Given the description of an element on the screen output the (x, y) to click on. 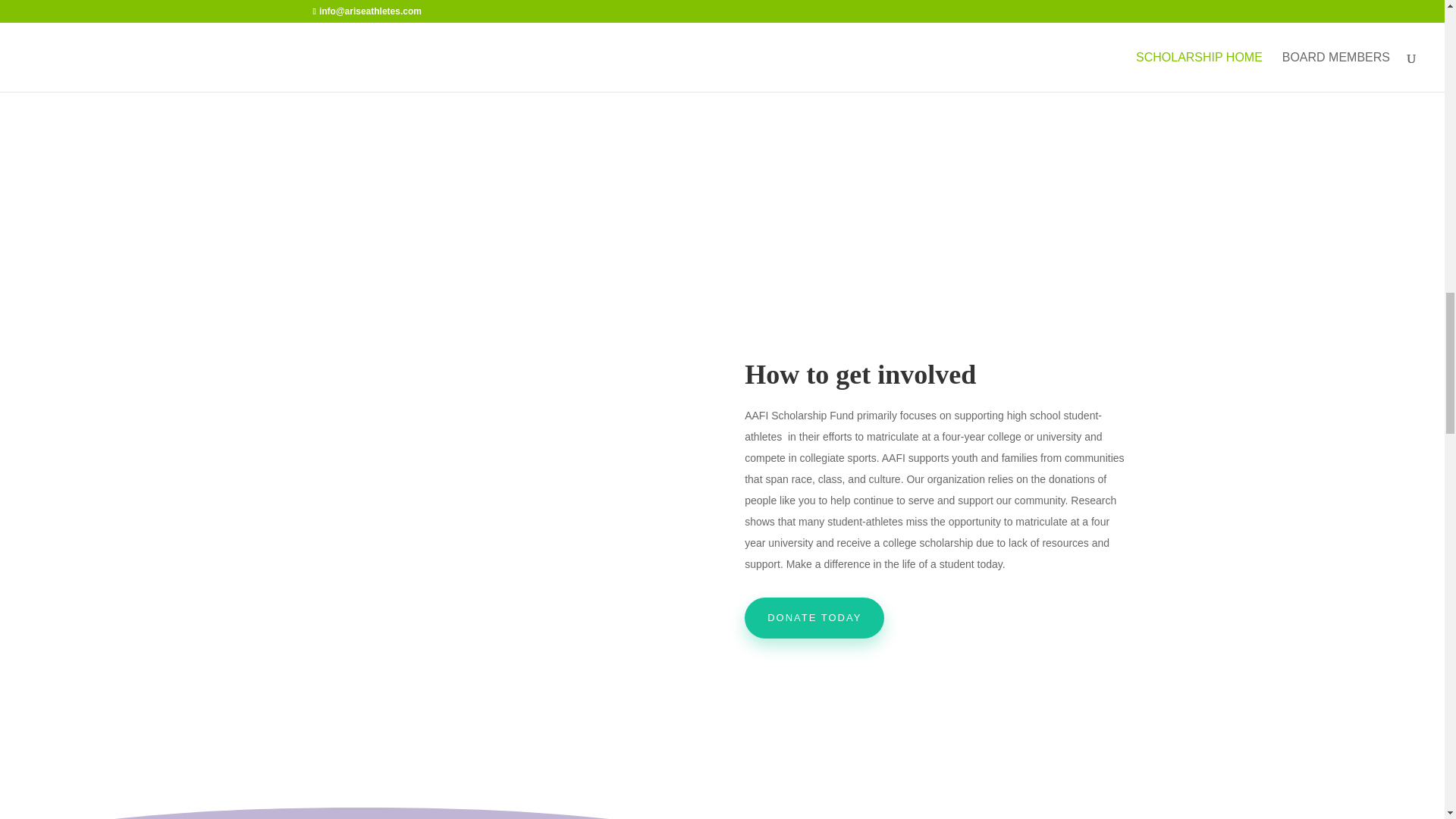
DONATE TODAY (813, 617)
